Given the description of an element on the screen output the (x, y) to click on. 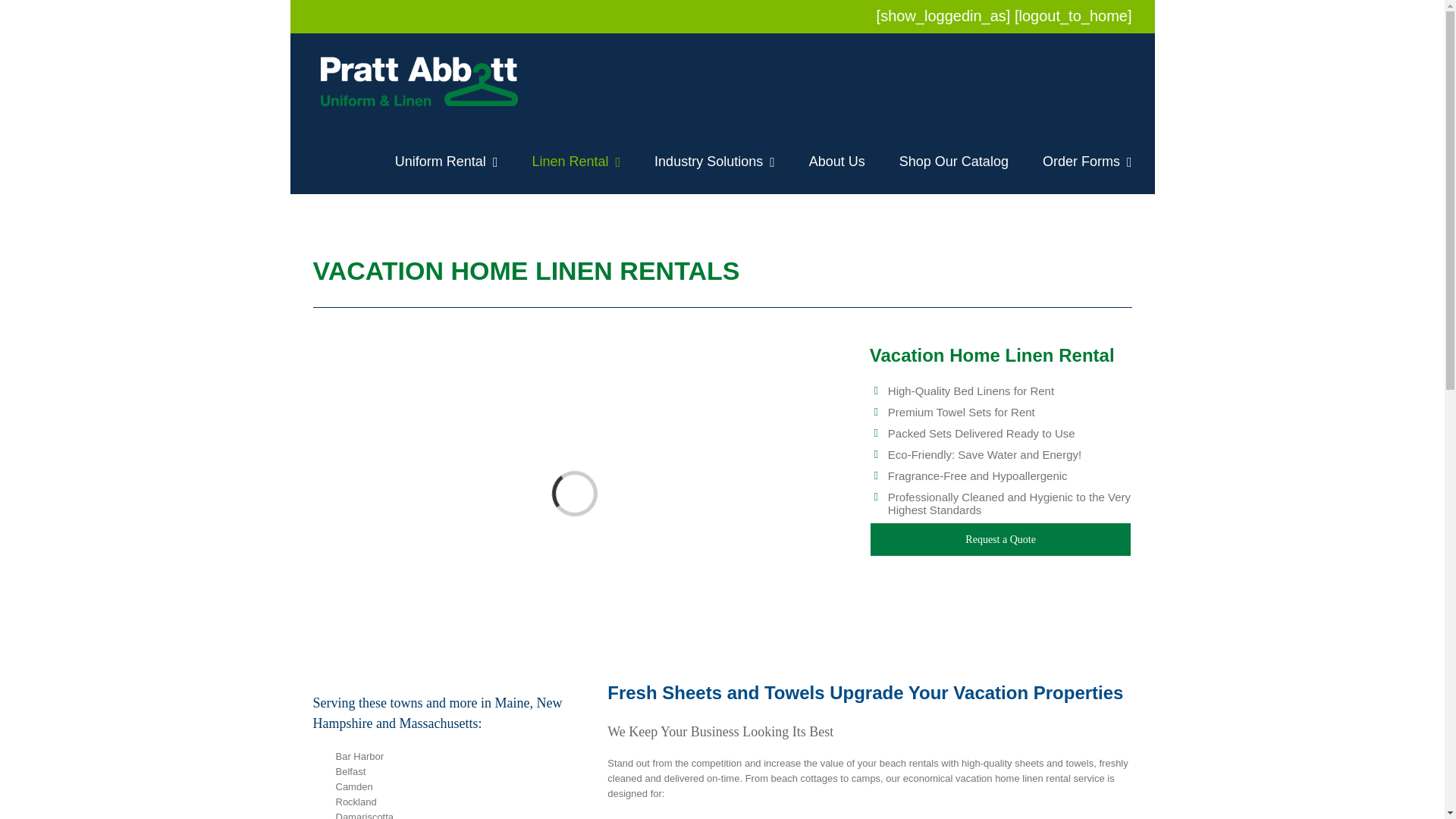
Order Forms (1087, 161)
Industry Solutions (713, 161)
Request a Quote (1000, 539)
Linen Rental (575, 161)
Uniform Rental (445, 161)
Shop Our Catalog (954, 161)
